Given the description of an element on the screen output the (x, y) to click on. 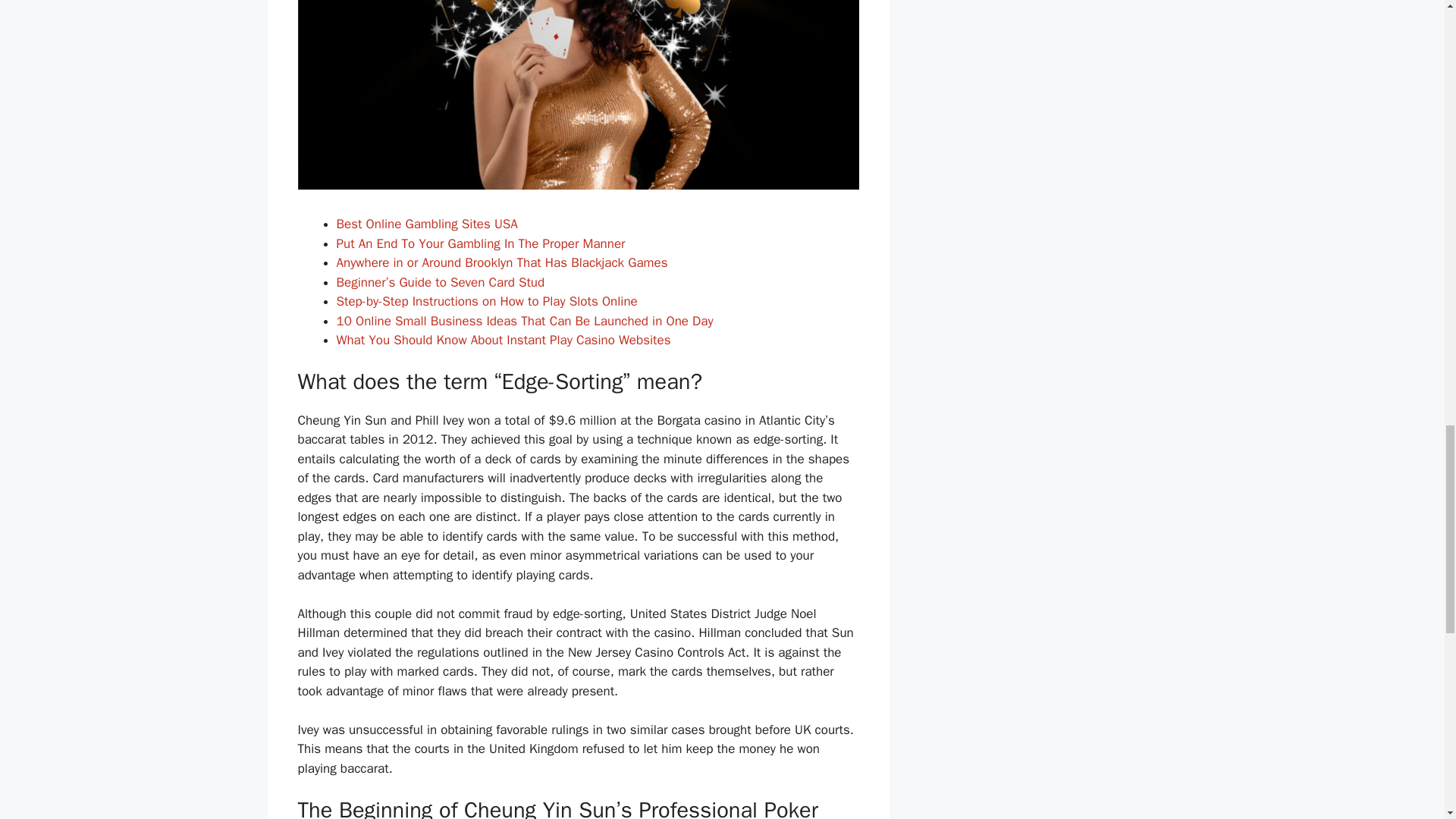
Anywhere in or Around Brooklyn That Has Blackjack Games (502, 262)
Best Online Gambling Sites USA (427, 223)
Put An End To Your Gambling In The Proper Manner (481, 243)
Step-by-Step Instructions on How to Play Slots Online (486, 301)
What You Should Know About Instant Play Casino Websites (503, 340)
